Given the description of an element on the screen output the (x, y) to click on. 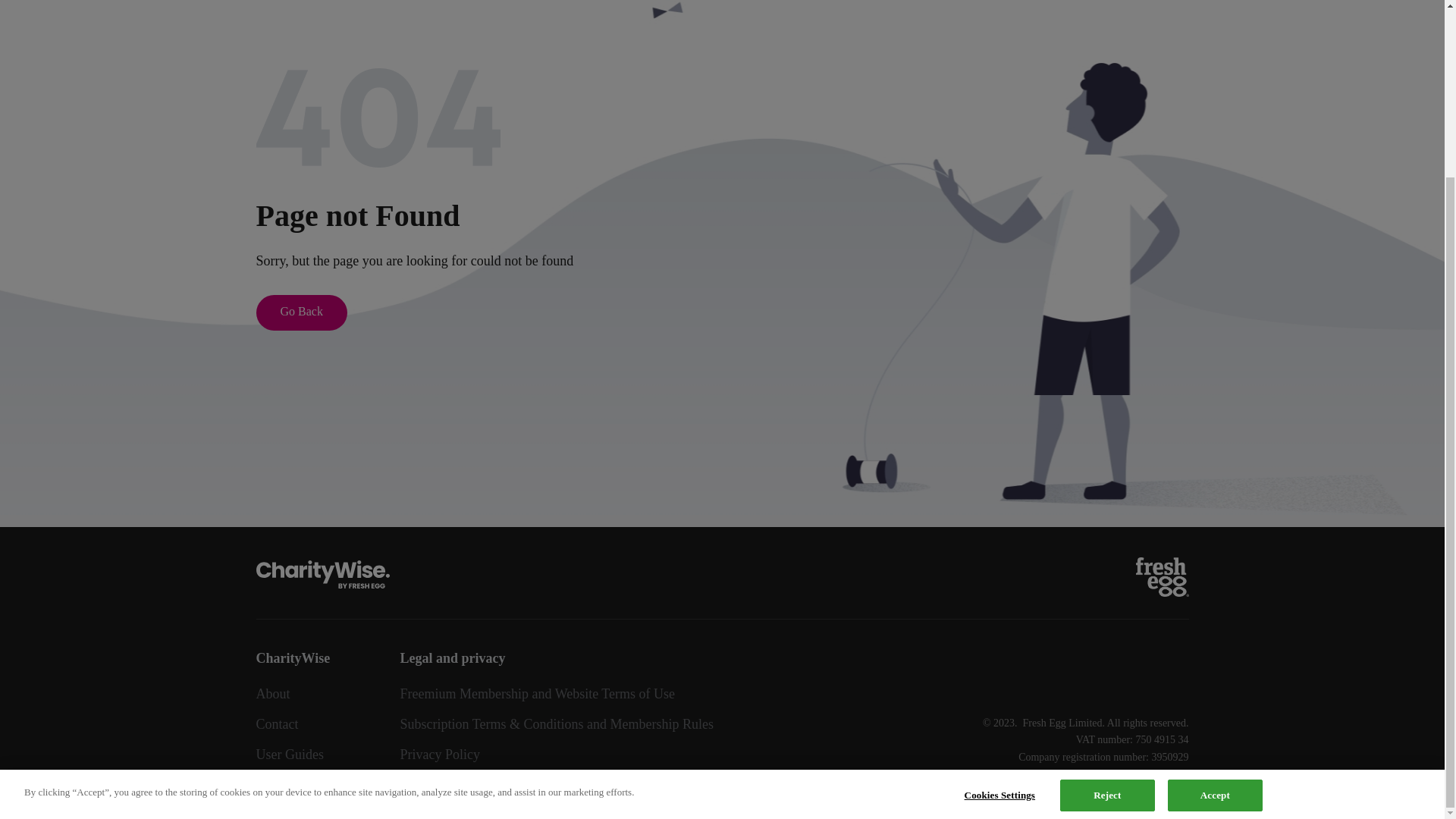
CharityWise (323, 572)
wpforms-submit (556, 668)
